Given the description of an element on the screen output the (x, y) to click on. 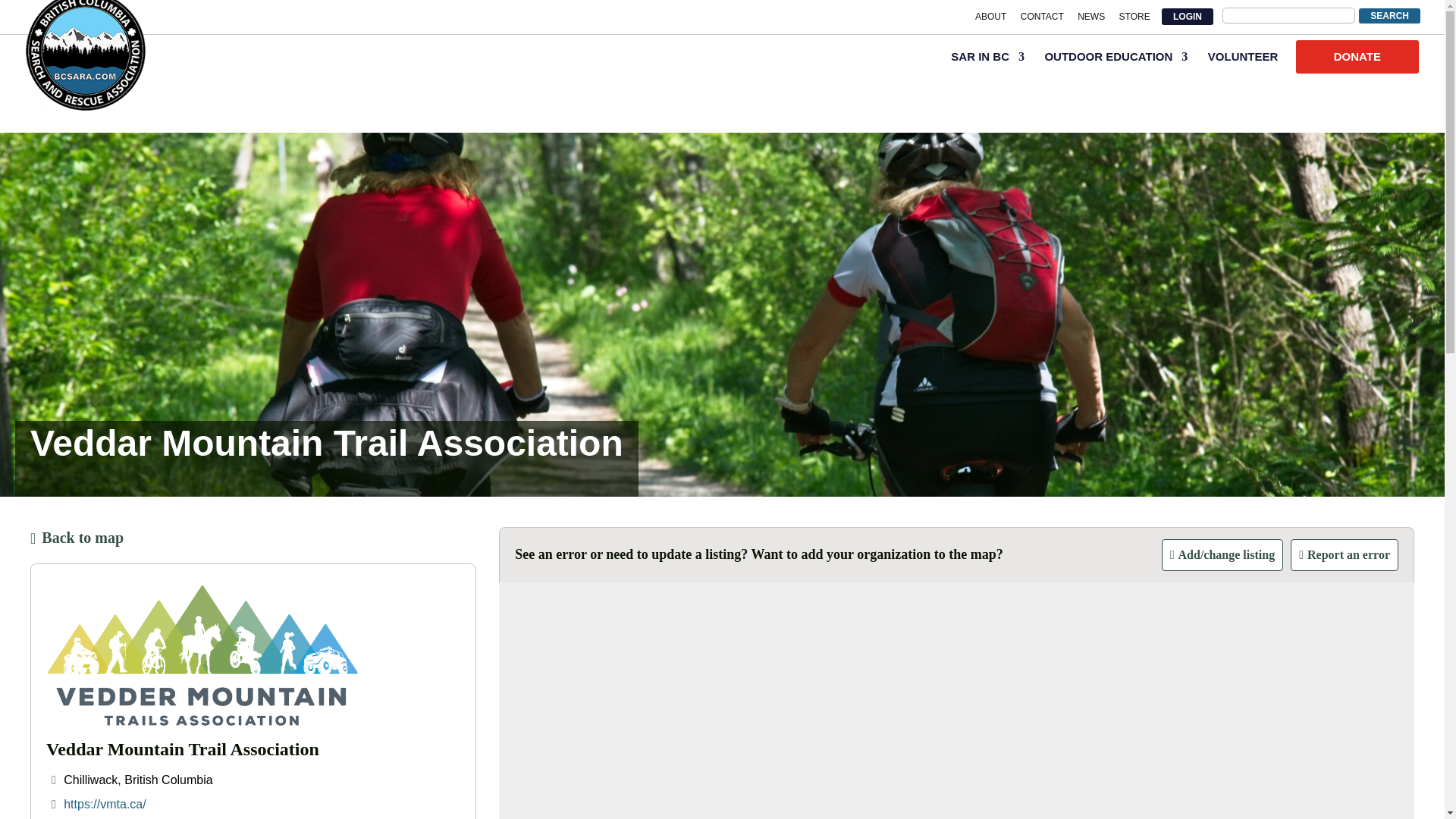
SAR IN BC (987, 64)
ABOUT (990, 19)
NEWS (1091, 19)
VOLUNTEER (1243, 64)
Search (1389, 15)
DONATE (1357, 56)
Back to map (253, 537)
CONTACT (1042, 19)
LOGIN (1187, 16)
Veddar Mountain Trail Association.png (202, 655)
